Given the description of an element on the screen output the (x, y) to click on. 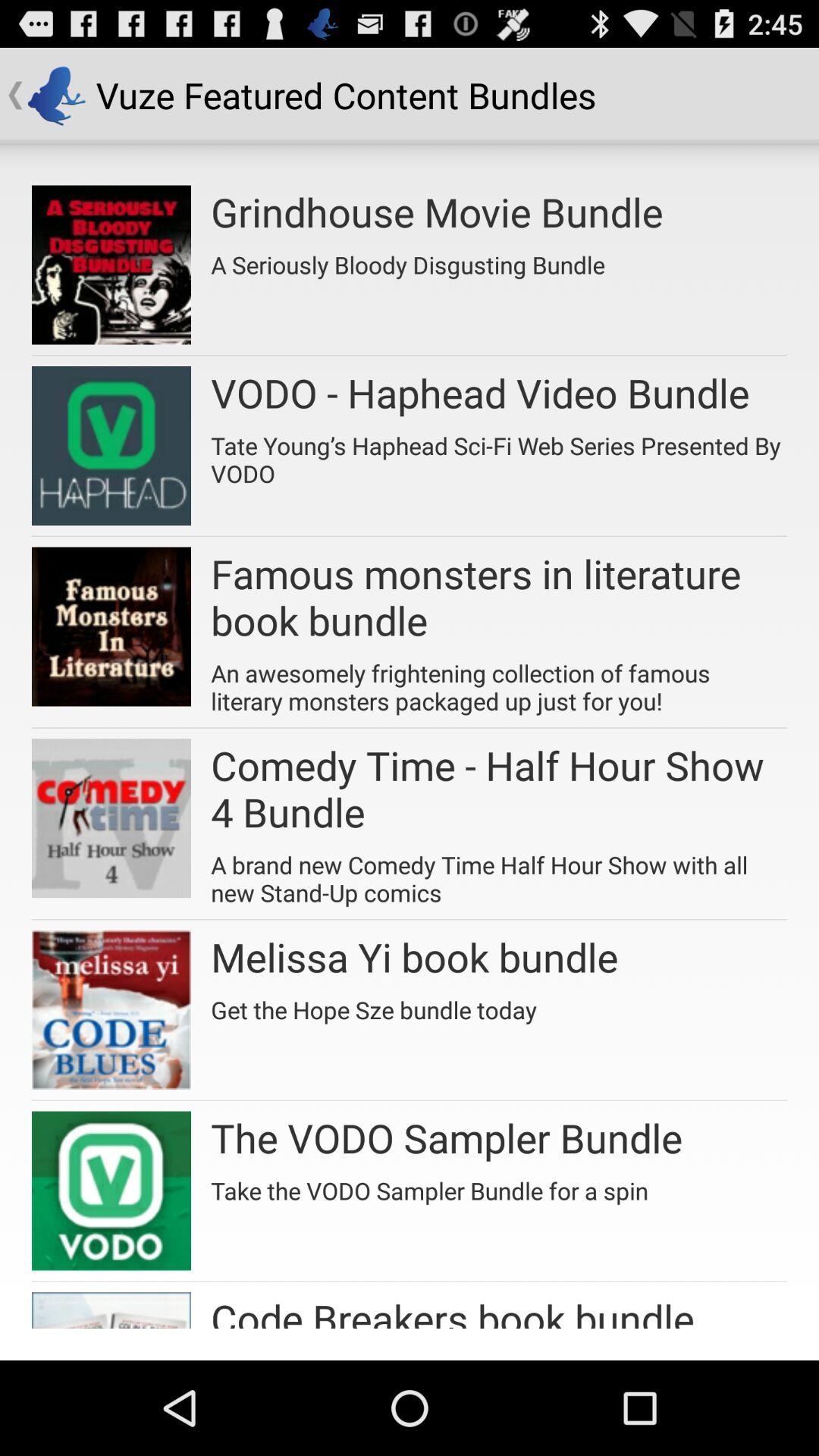
turn on the app above comedy time half item (499, 681)
